Given the description of an element on the screen output the (x, y) to click on. 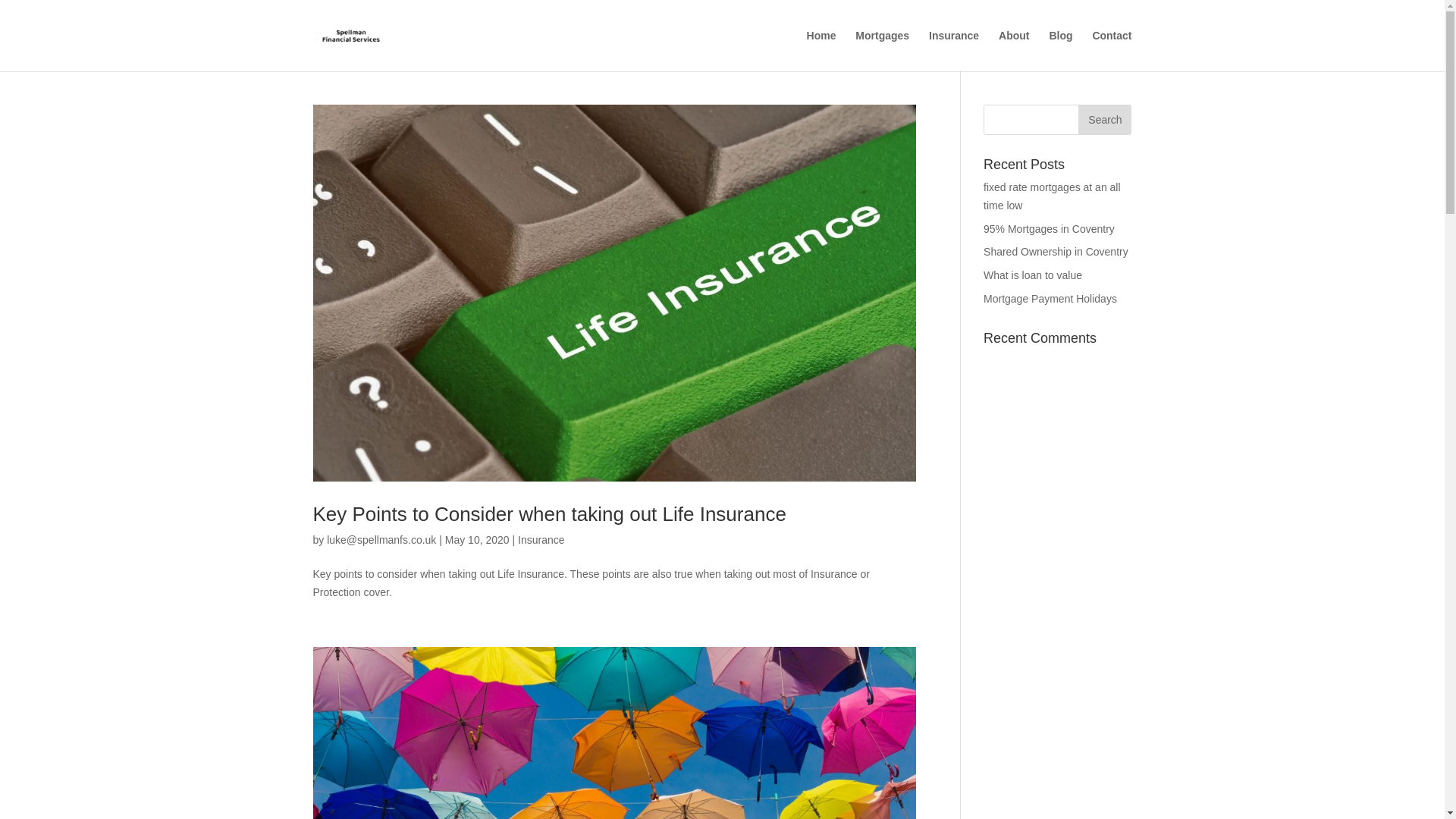
Key Points to Consider when taking out Life Insurance (549, 513)
Insurance (953, 50)
Insurance (541, 539)
Search (1104, 119)
Contact (1111, 50)
Mortgages (882, 50)
